Given the description of an element on the screen output the (x, y) to click on. 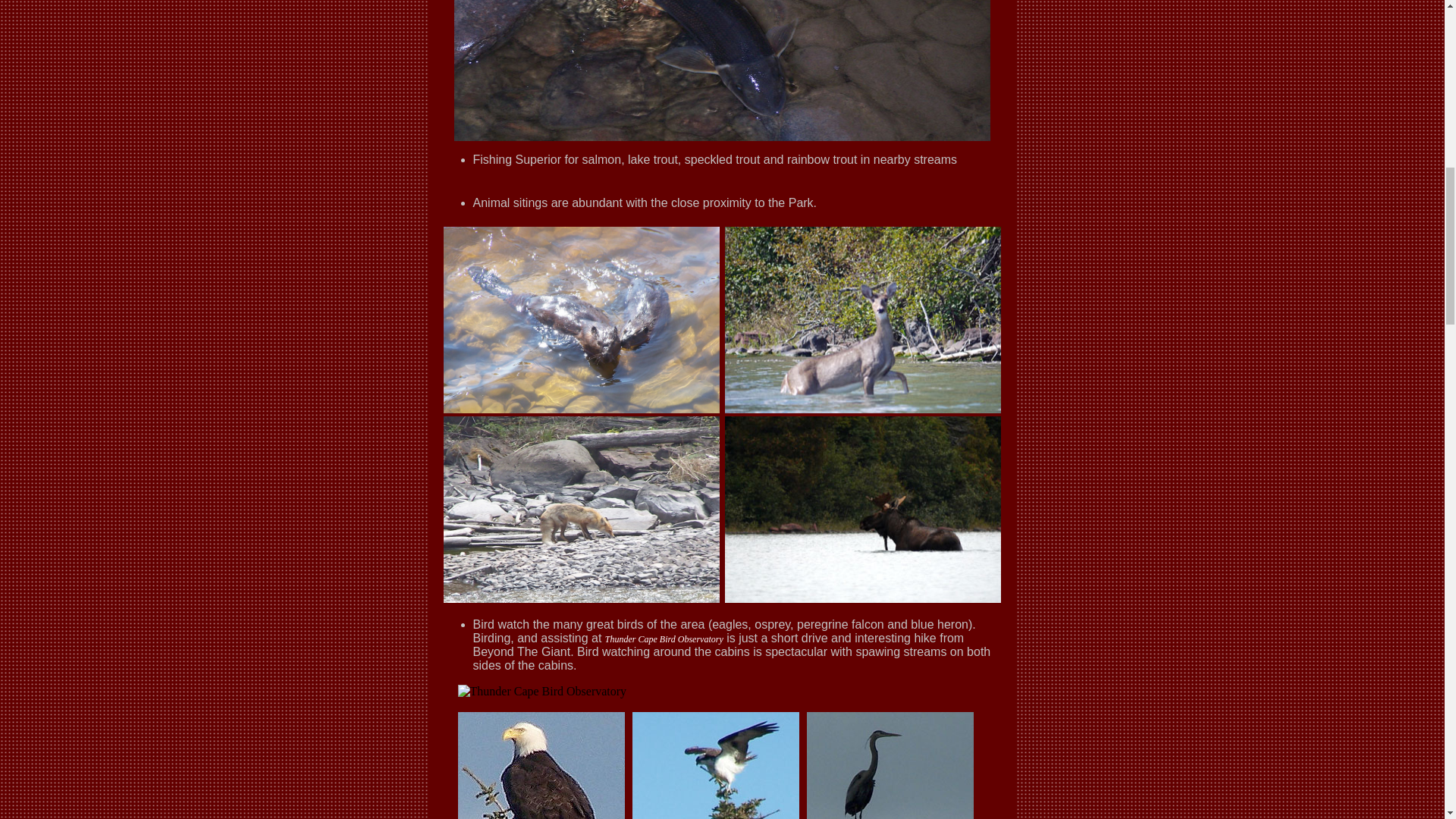
Thunder Cape Bird Observatory (664, 638)
